Given the description of an element on the screen output the (x, y) to click on. 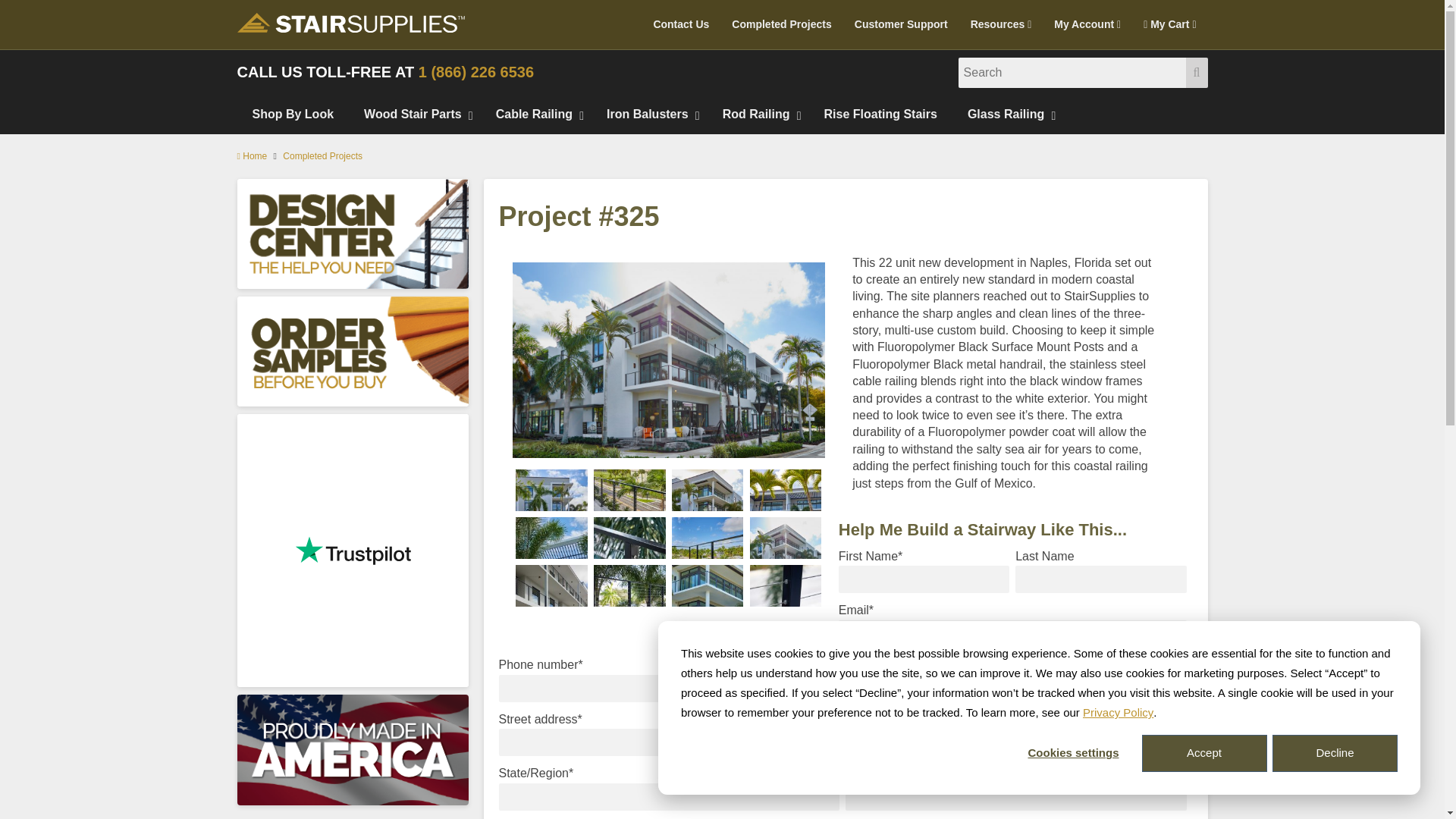
Customer Support (901, 23)
Privacy Policy (1118, 712)
Iron Balusters (649, 114)
Glass Railing (1007, 114)
My Account (1087, 24)
Contact Us (681, 23)
My Cart (1169, 24)
Resources (1001, 24)
Cable Railing (535, 114)
Contact Us (681, 23)
Customer Support (901, 23)
Completed Projects (781, 23)
Rise Floating Stairs (880, 114)
Search for: (1072, 72)
